Given the description of an element on the screen output the (x, y) to click on. 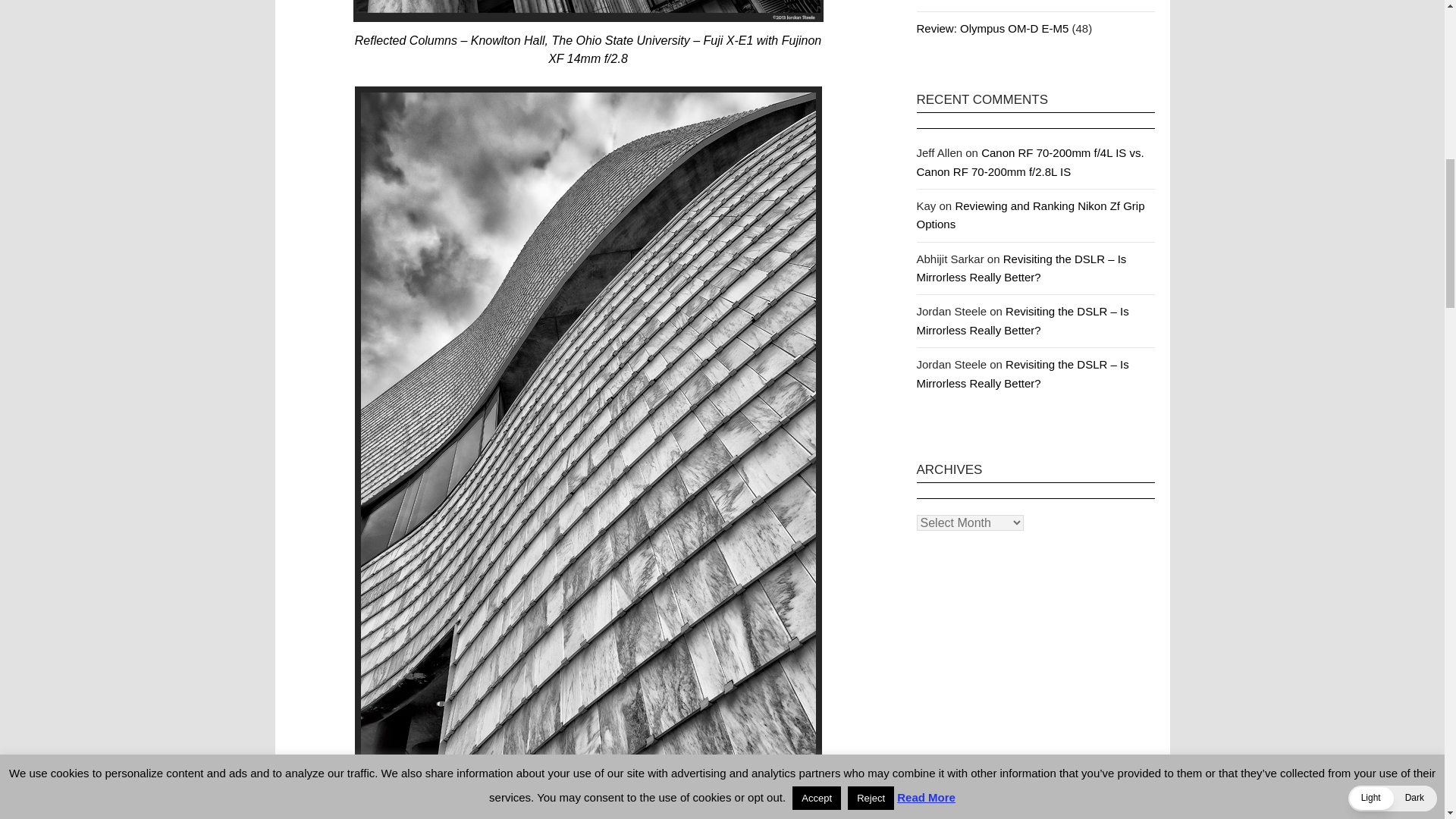
Review: Olympus OM-D E-M5 (991, 28)
Reviewing and Ranking Nikon Zf Grip Options (1029, 214)
